Given the description of an element on the screen output the (x, y) to click on. 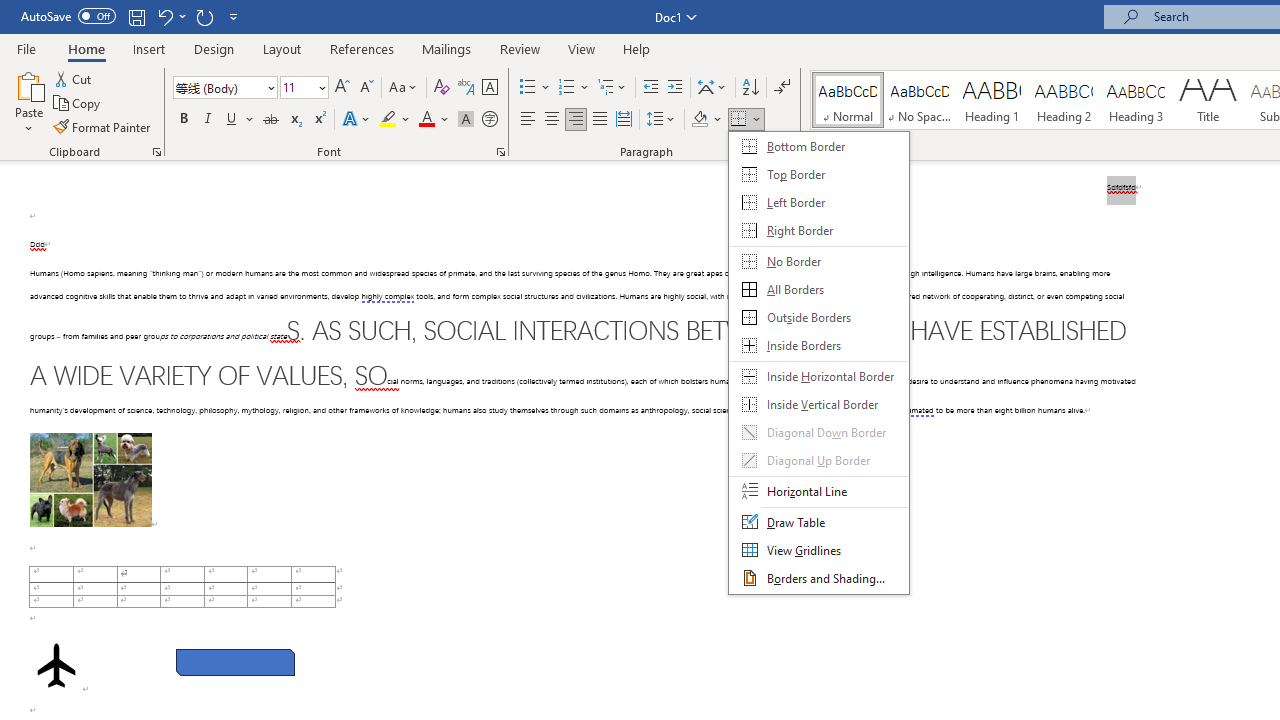
View (582, 48)
Asian Layout (712, 87)
Grow Font (342, 87)
Sort... (750, 87)
Font Color Red (426, 119)
References (362, 48)
Heading 1 (991, 100)
Undo Paragraph Alignment (164, 15)
Font... (500, 151)
